Given the description of an element on the screen output the (x, y) to click on. 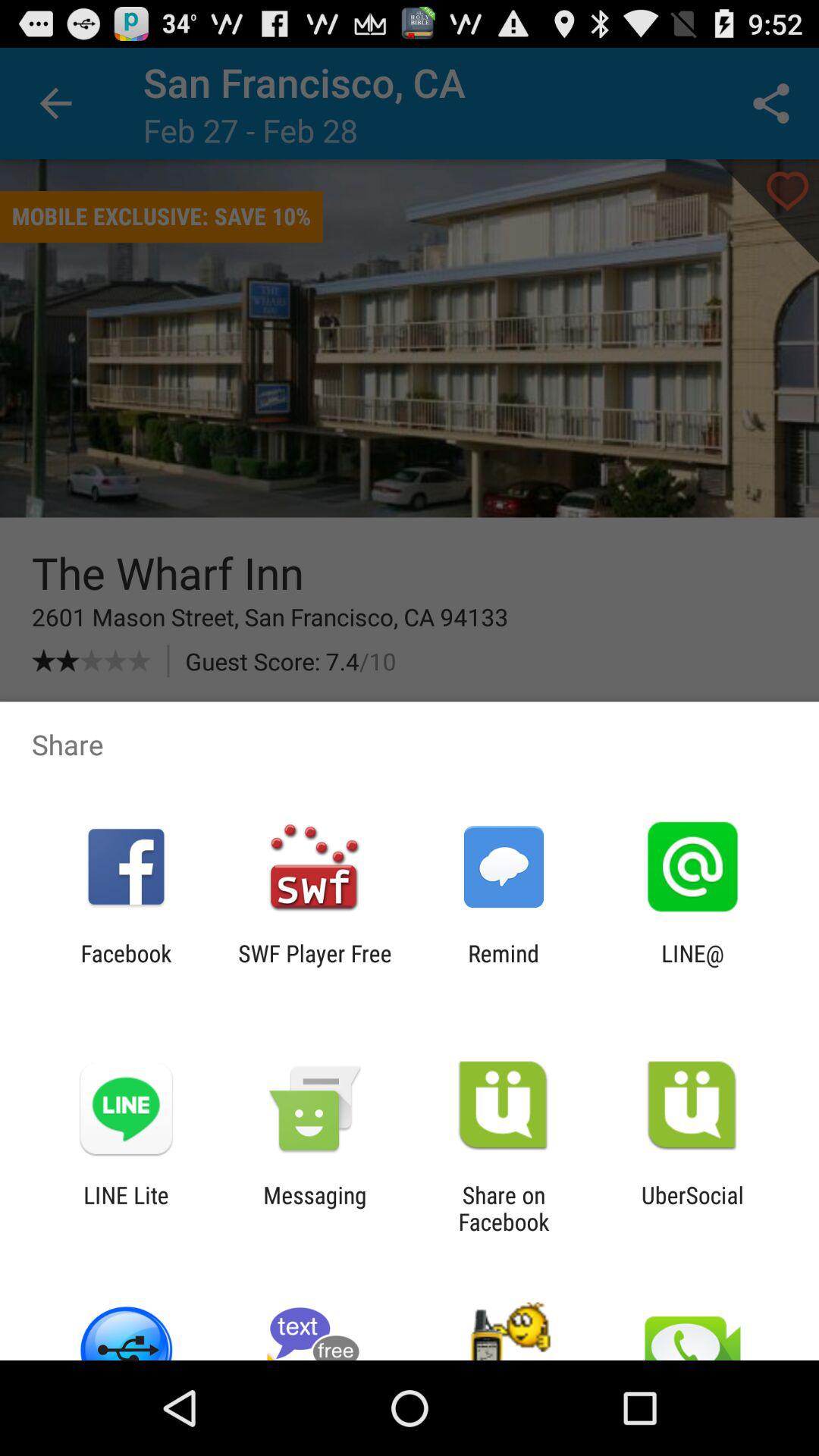
launch item next to the line lite app (314, 1208)
